Given the description of an element on the screen output the (x, y) to click on. 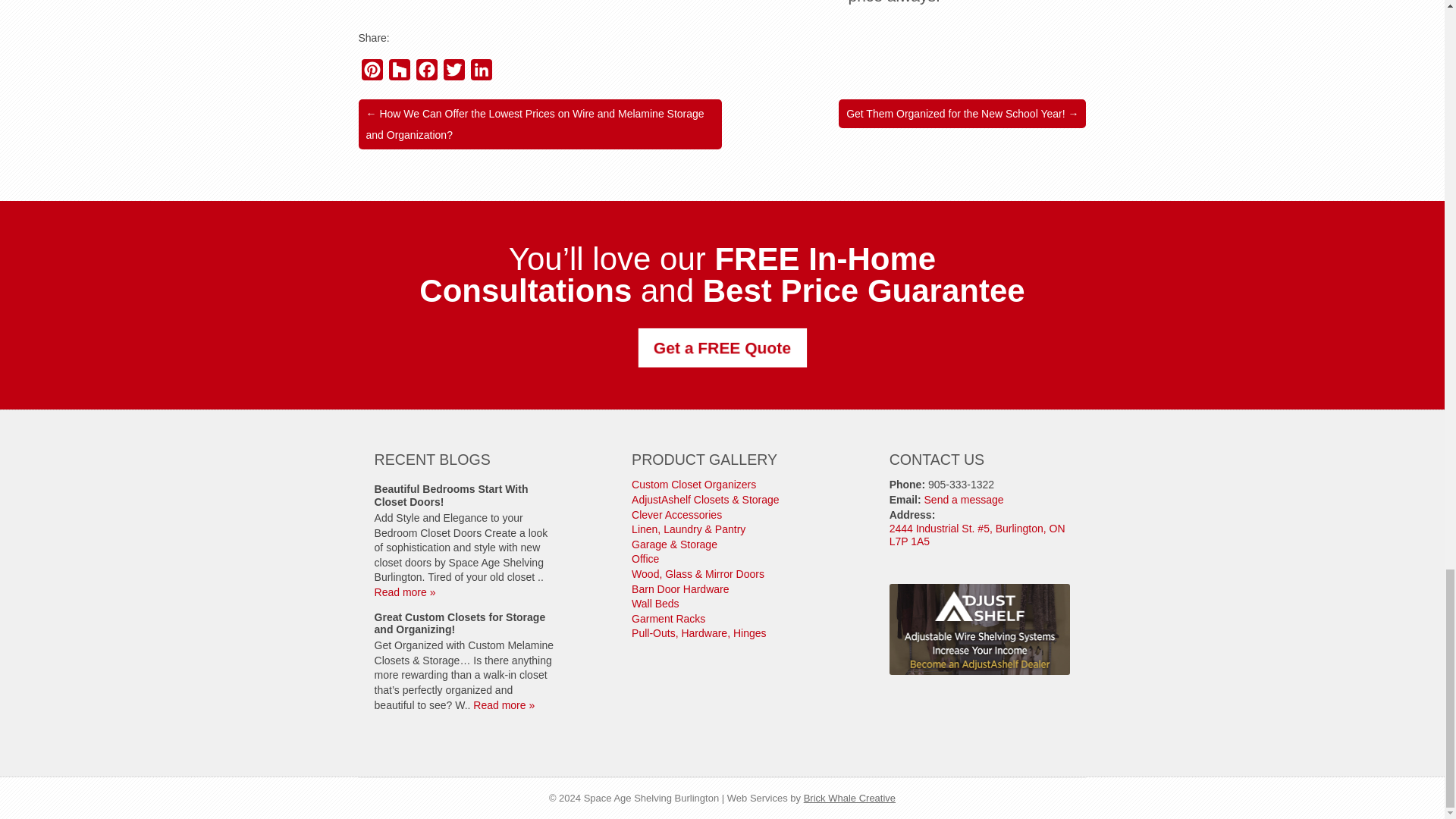
Pinterest (371, 72)
Houzz (398, 72)
Twitter (453, 72)
Send a message (964, 499)
Facebook (425, 72)
Twitter (453, 72)
Pull-Outs, Hardware, Hinges (698, 633)
Garment Racks (667, 618)
Barn Door Hardware (680, 589)
Pinterest (371, 72)
Clever Accessories (676, 514)
Office (645, 558)
Custom Closet Organizers (693, 484)
LinkedIn (481, 72)
Get a FREE Quote (718, 346)
